Given the description of an element on the screen output the (x, y) to click on. 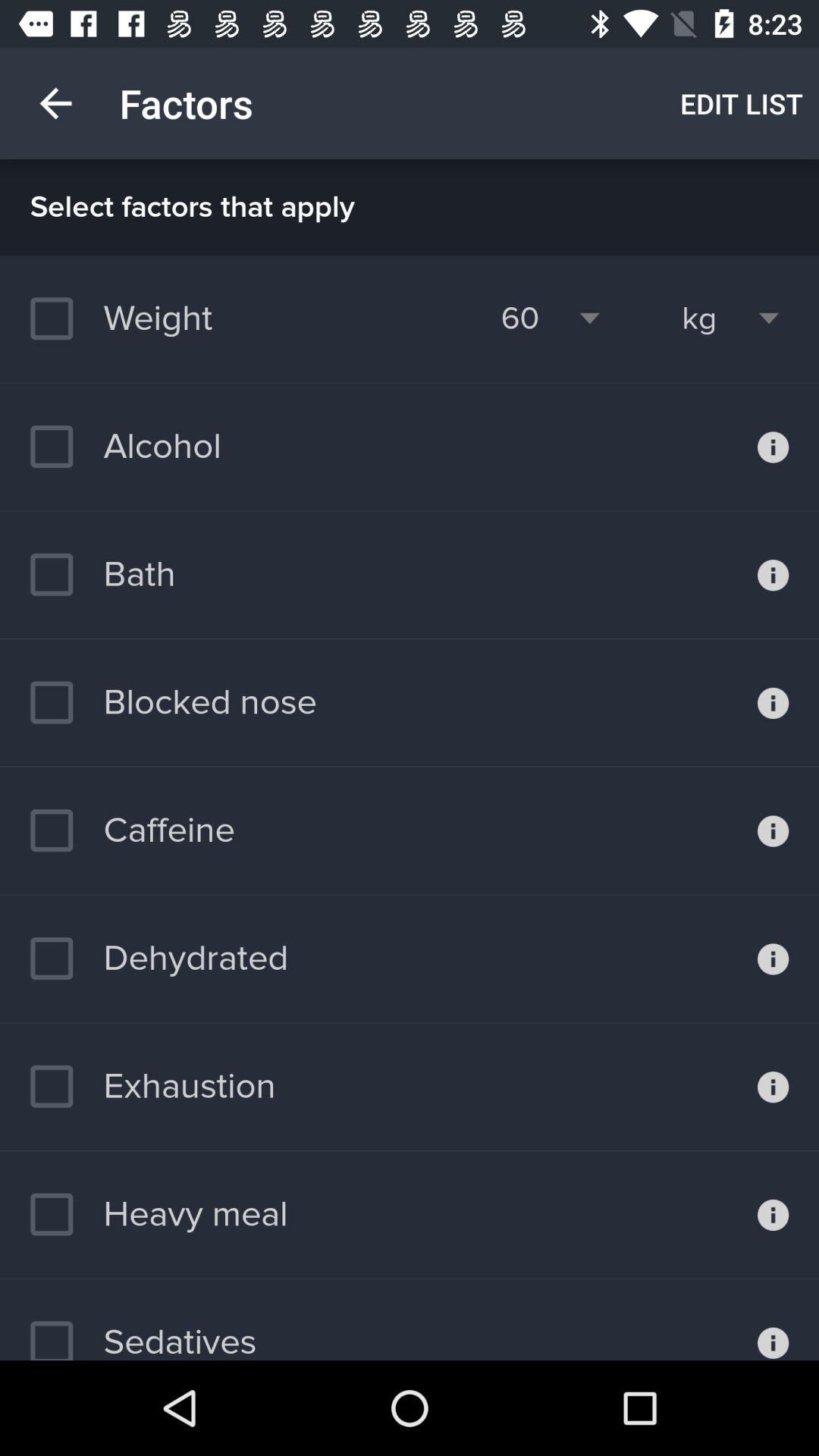
tap icon next to 60 icon (698, 318)
